Given the description of an element on the screen output the (x, y) to click on. 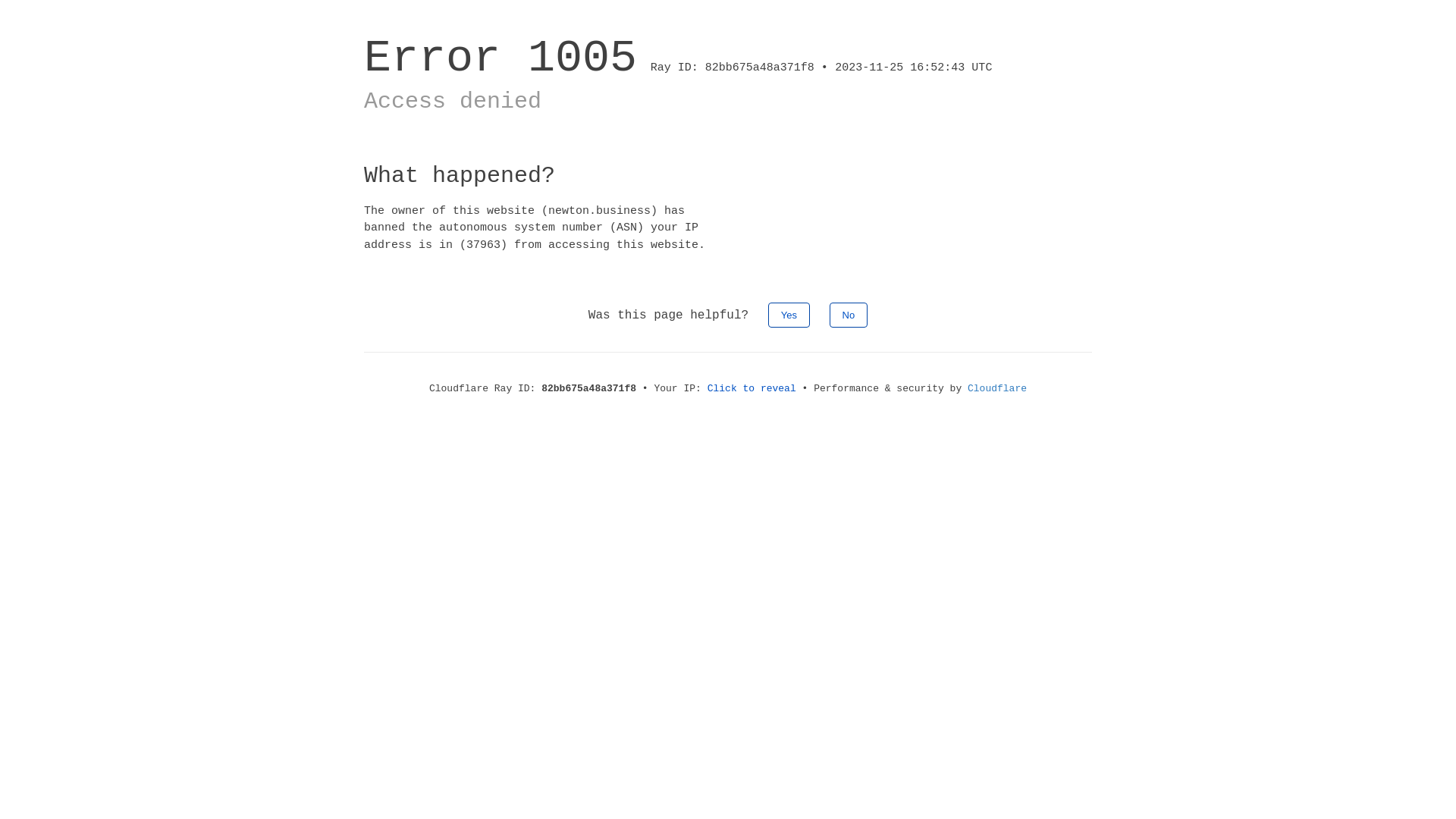
Cloudflare Element type: text (996, 388)
Click to reveal Element type: text (751, 388)
No Element type: text (848, 314)
Yes Element type: text (788, 314)
